Given the description of an element on the screen output the (x, y) to click on. 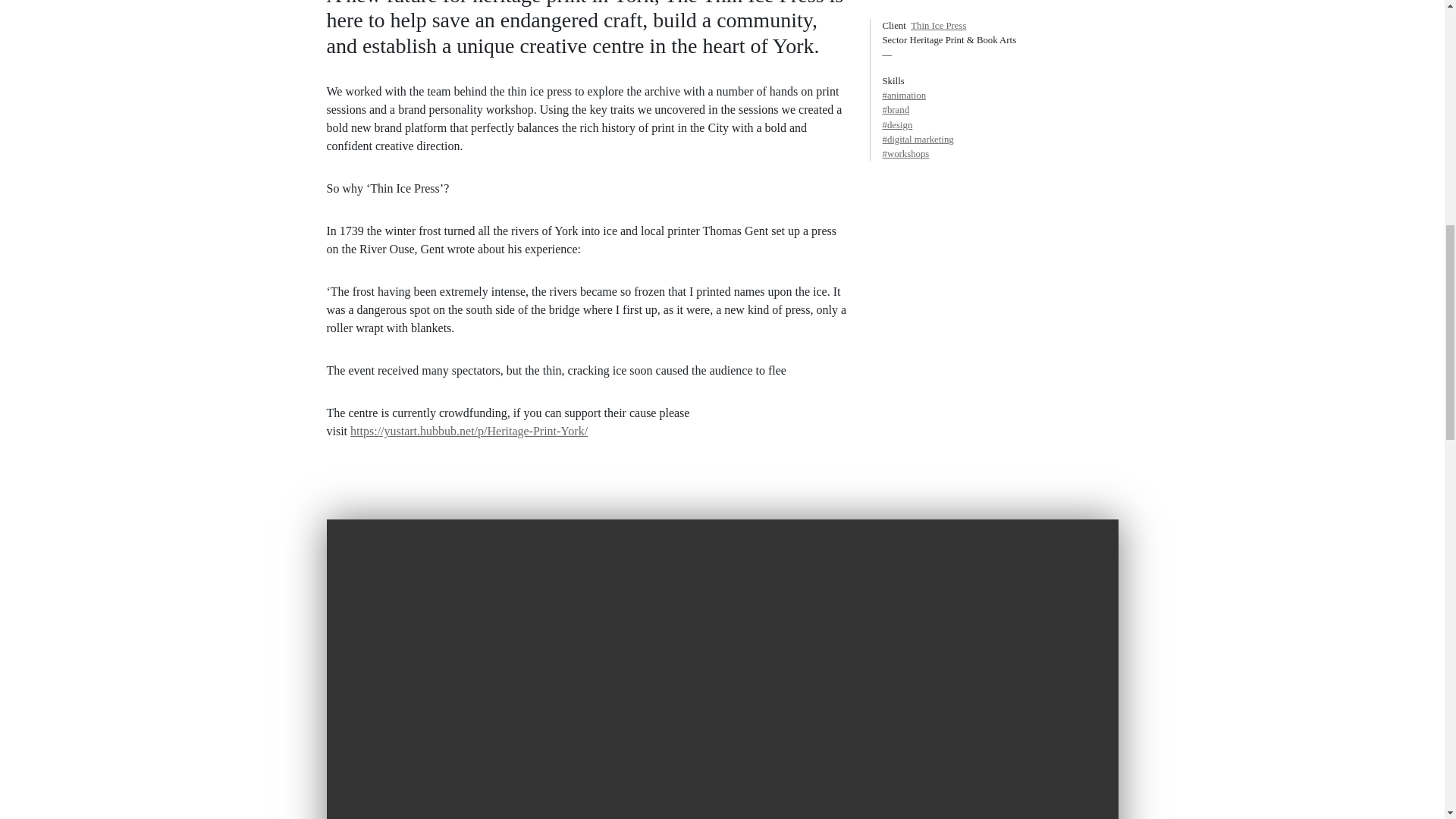
Design (1000, 28)
Digital Marketing (1000, 42)
Brand (1000, 12)
Animation (1000, 2)
Workshops (1000, 56)
